Given the description of an element on the screen output the (x, y) to click on. 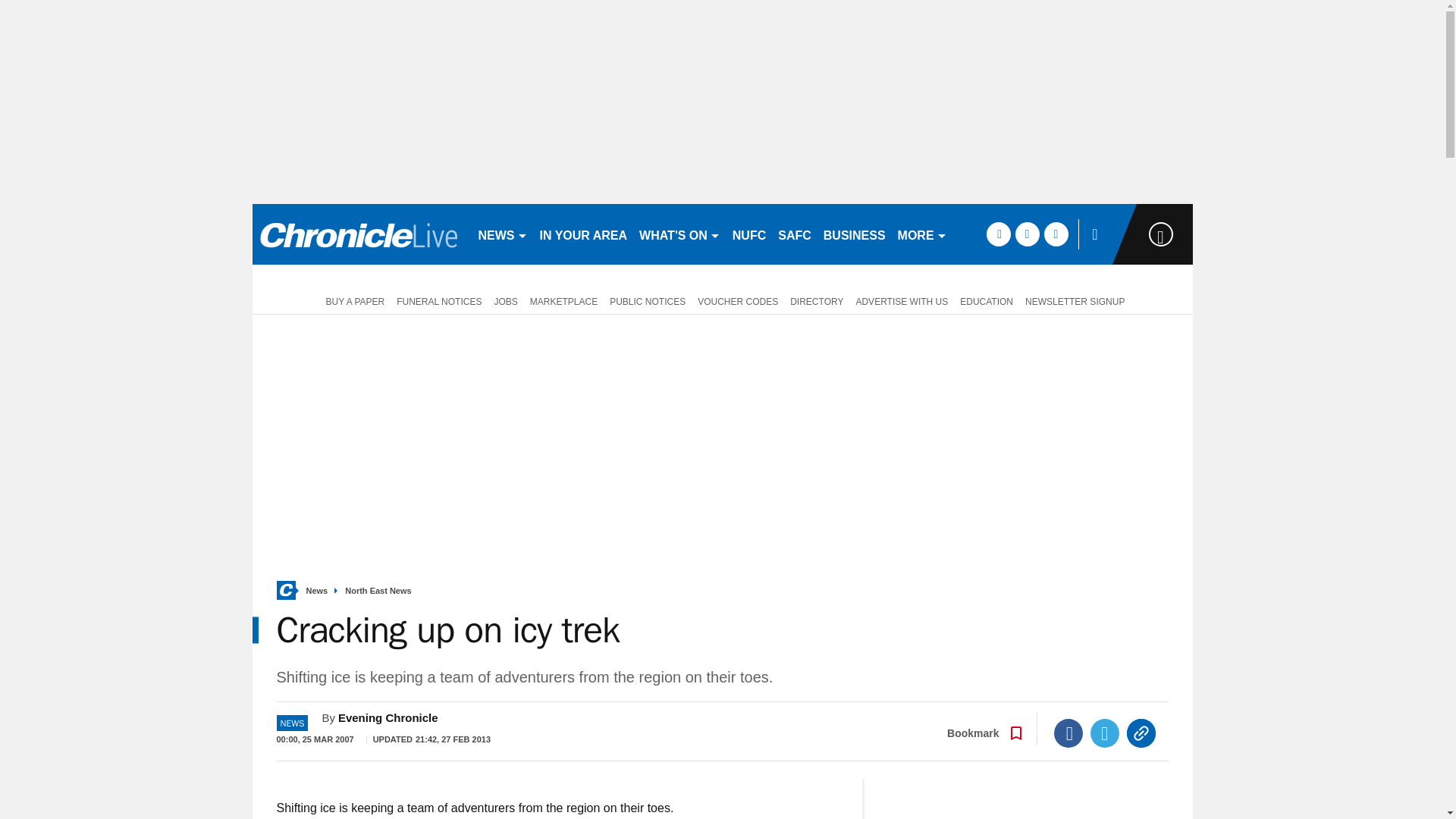
BUSINESS (853, 233)
nechronicle (357, 233)
Twitter (1104, 733)
facebook (997, 233)
Facebook (1068, 733)
twitter (1026, 233)
IN YOUR AREA (583, 233)
instagram (1055, 233)
NEWS (501, 233)
MORE (922, 233)
